Given the description of an element on the screen output the (x, y) to click on. 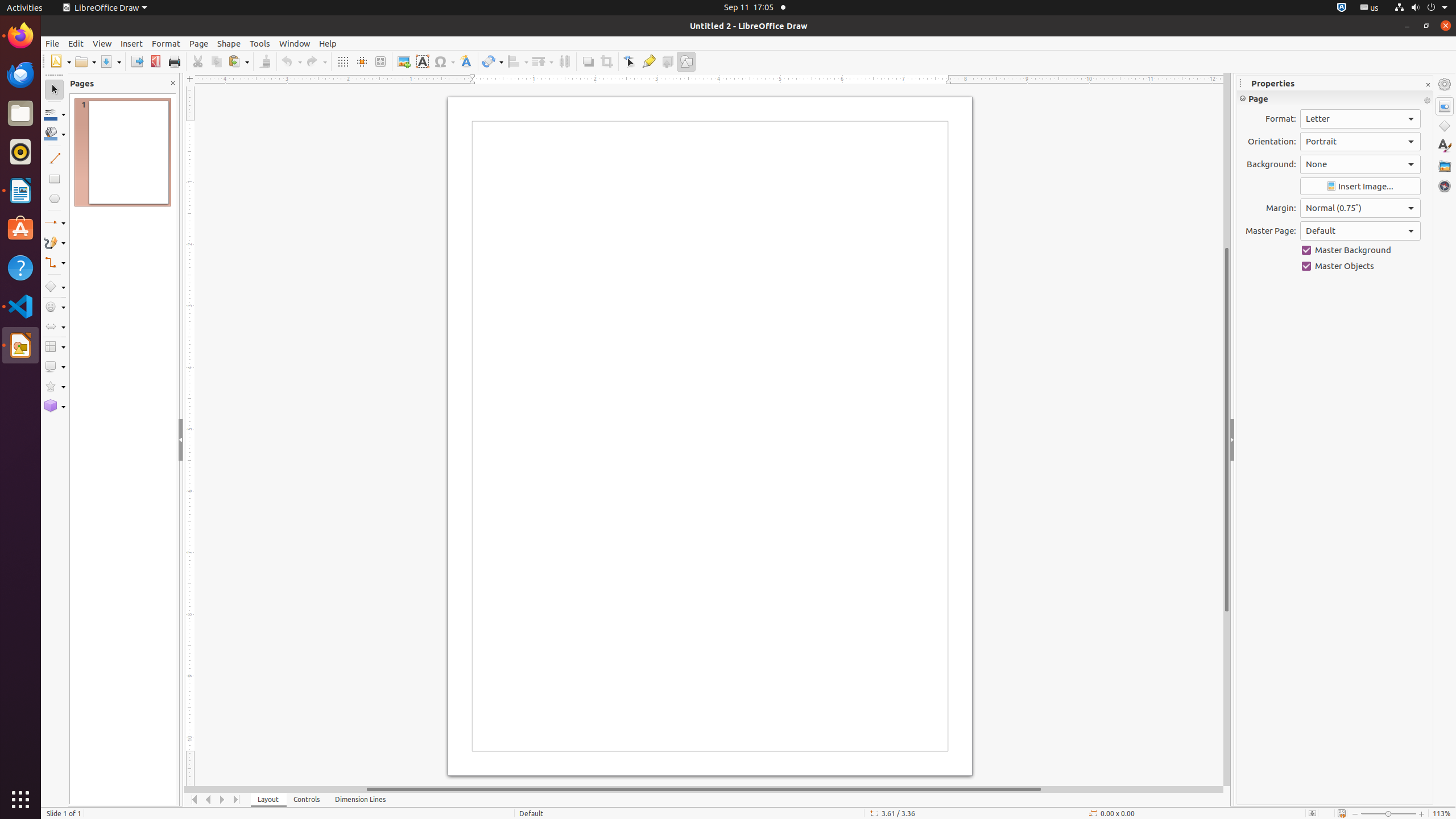
New Element type: push-button (59, 61)
Toggle Extrusion Element type: push-button (667, 61)
Align Element type: push-button (517, 61)
Master Background Element type: check-box (1360, 249)
Controls Element type: page-tab (307, 799)
